Given the description of an element on the screen output the (x, y) to click on. 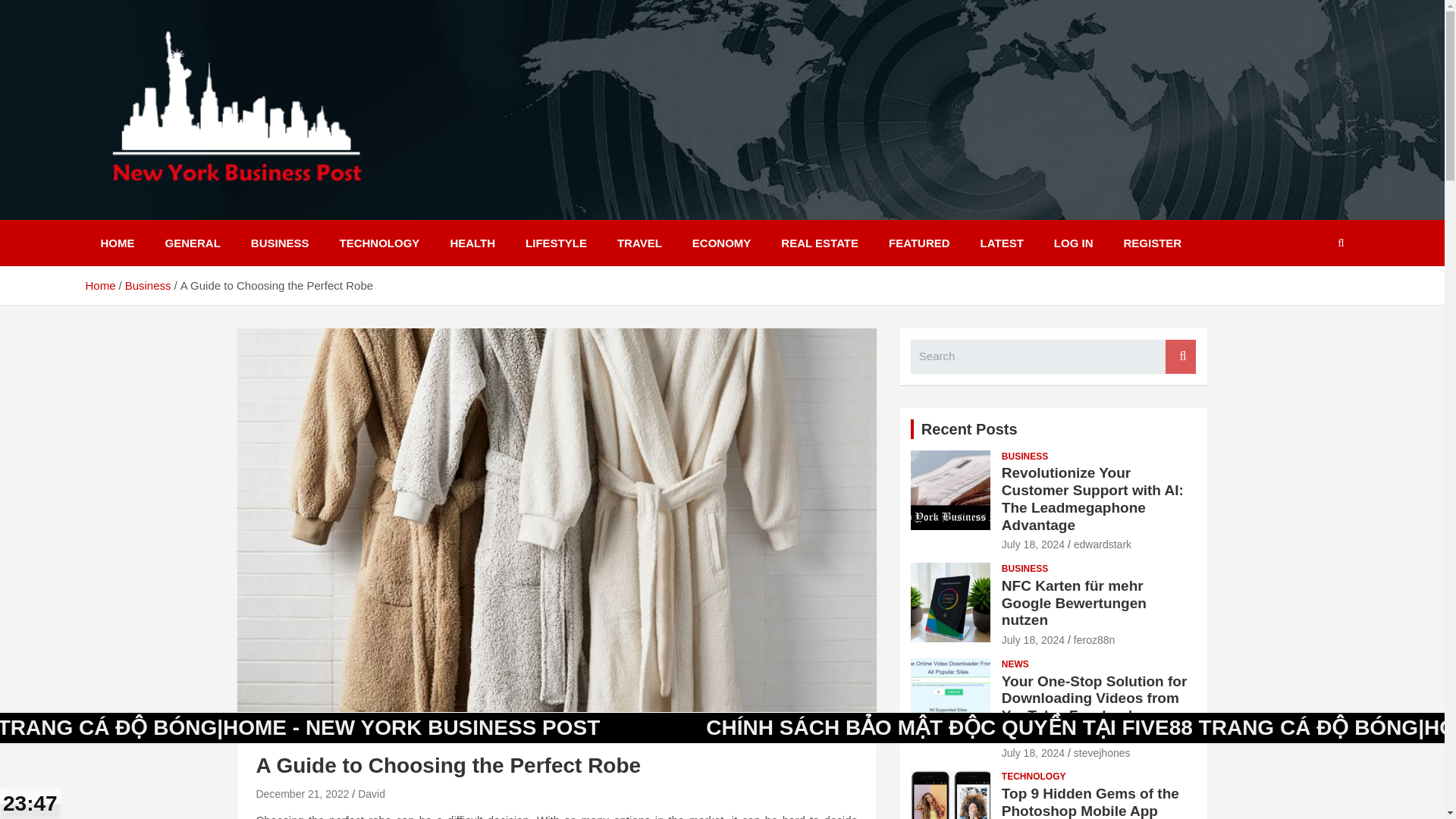
REAL ESTATE (819, 243)
December 21, 2022 (302, 793)
LIFESTYLE (556, 243)
New York Business Post (261, 209)
BUSINESS (283, 738)
ECONOMY (722, 243)
GENERAL (192, 243)
LATEST (1002, 243)
HOME (116, 243)
TECHNOLOGY (379, 243)
Business (148, 285)
David (371, 793)
July 18, 2024 (1032, 544)
